Given the description of an element on the screen output the (x, y) to click on. 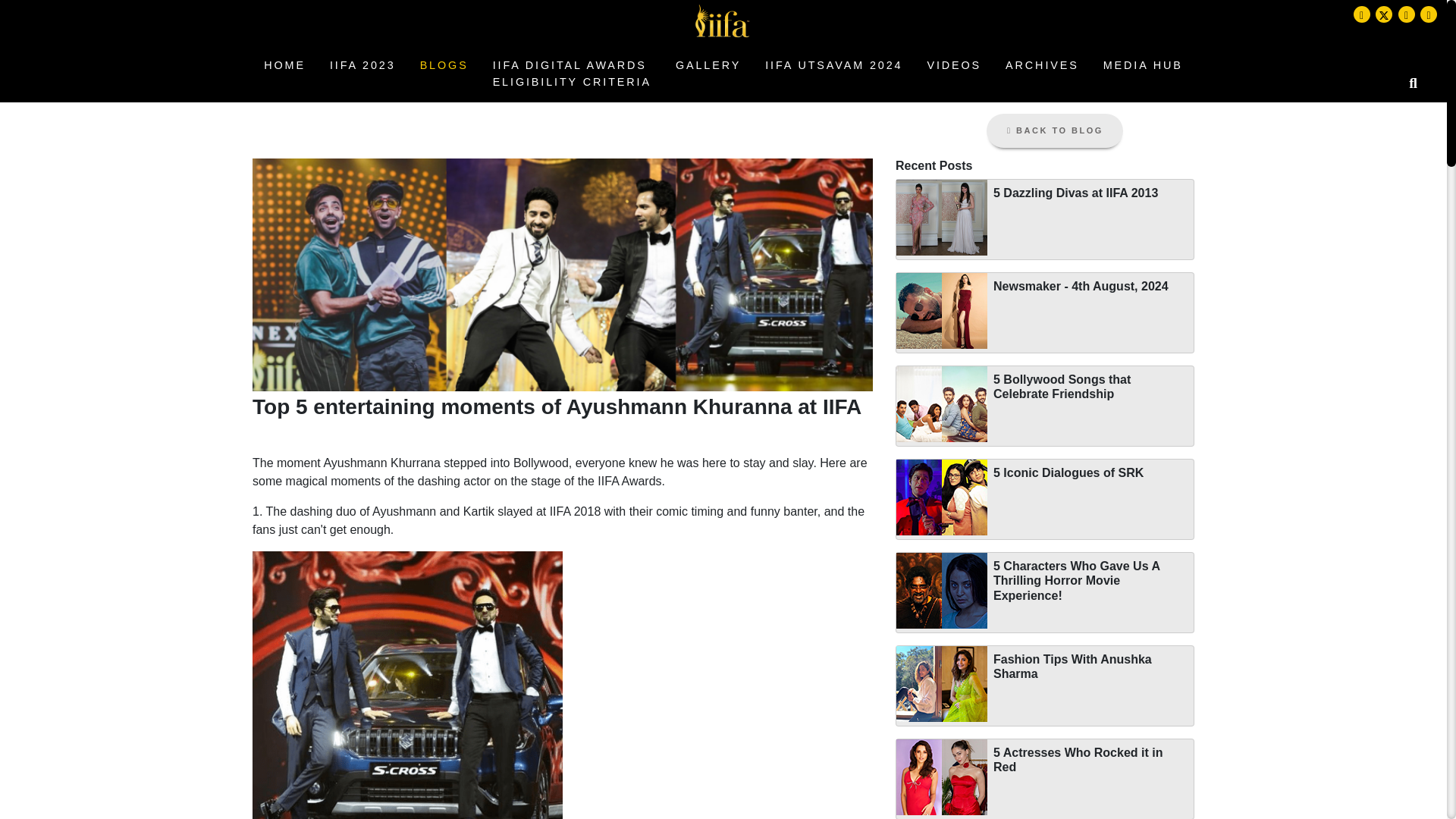
IIFA 2023 (362, 65)
MEDIA HUB (572, 73)
ARCHIVES (1143, 65)
BACK TO BLOG (1041, 65)
HOME (1054, 130)
GALLERY (284, 65)
VIDEOS (707, 65)
IIFA UTSAVAM 2024 (953, 65)
